Given the description of an element on the screen output the (x, y) to click on. 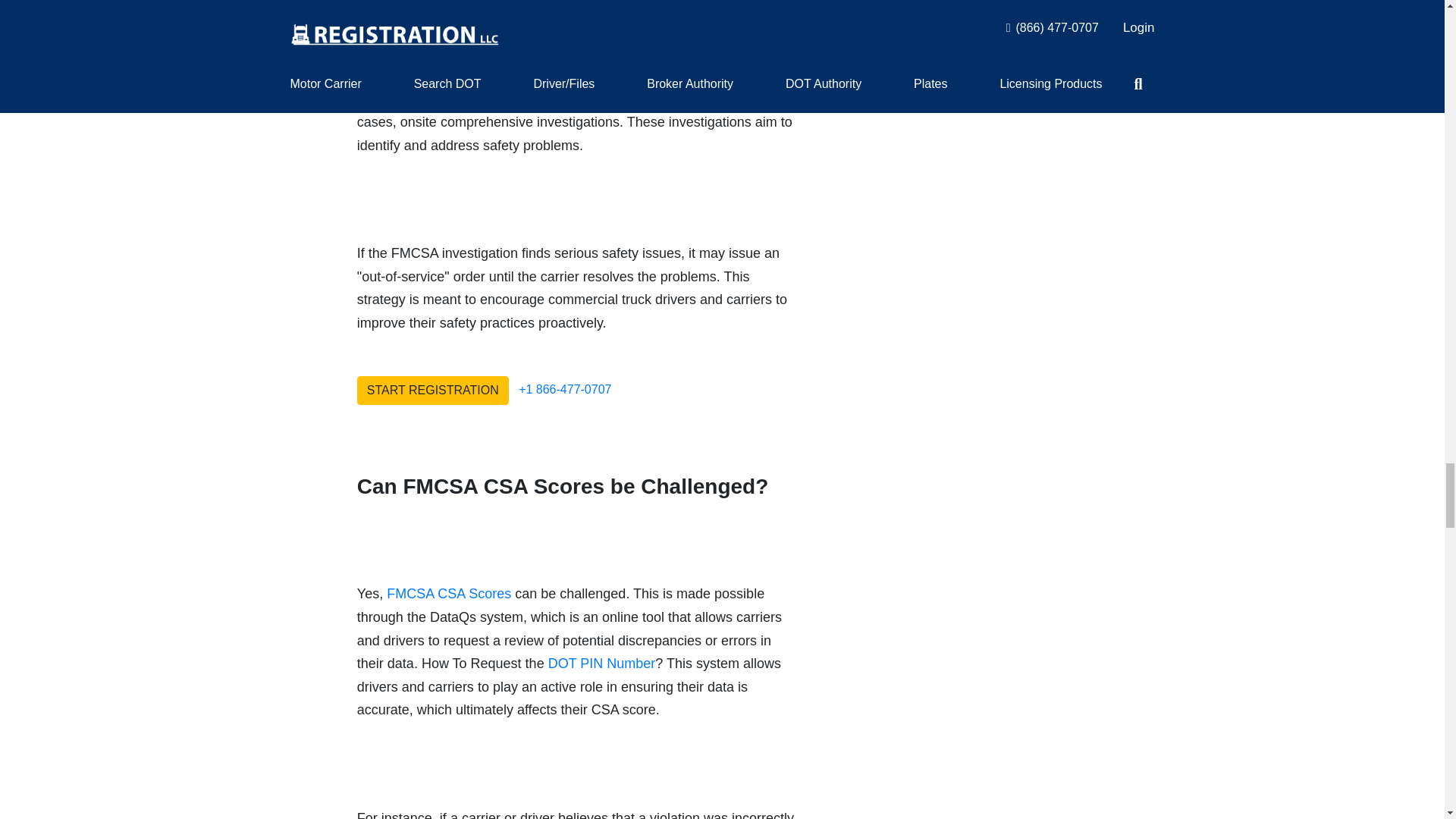
START REGISTRATION (432, 389)
DOT PIN Number (602, 663)
FMCSA CSA Scores (449, 593)
